Given the description of an element on the screen output the (x, y) to click on. 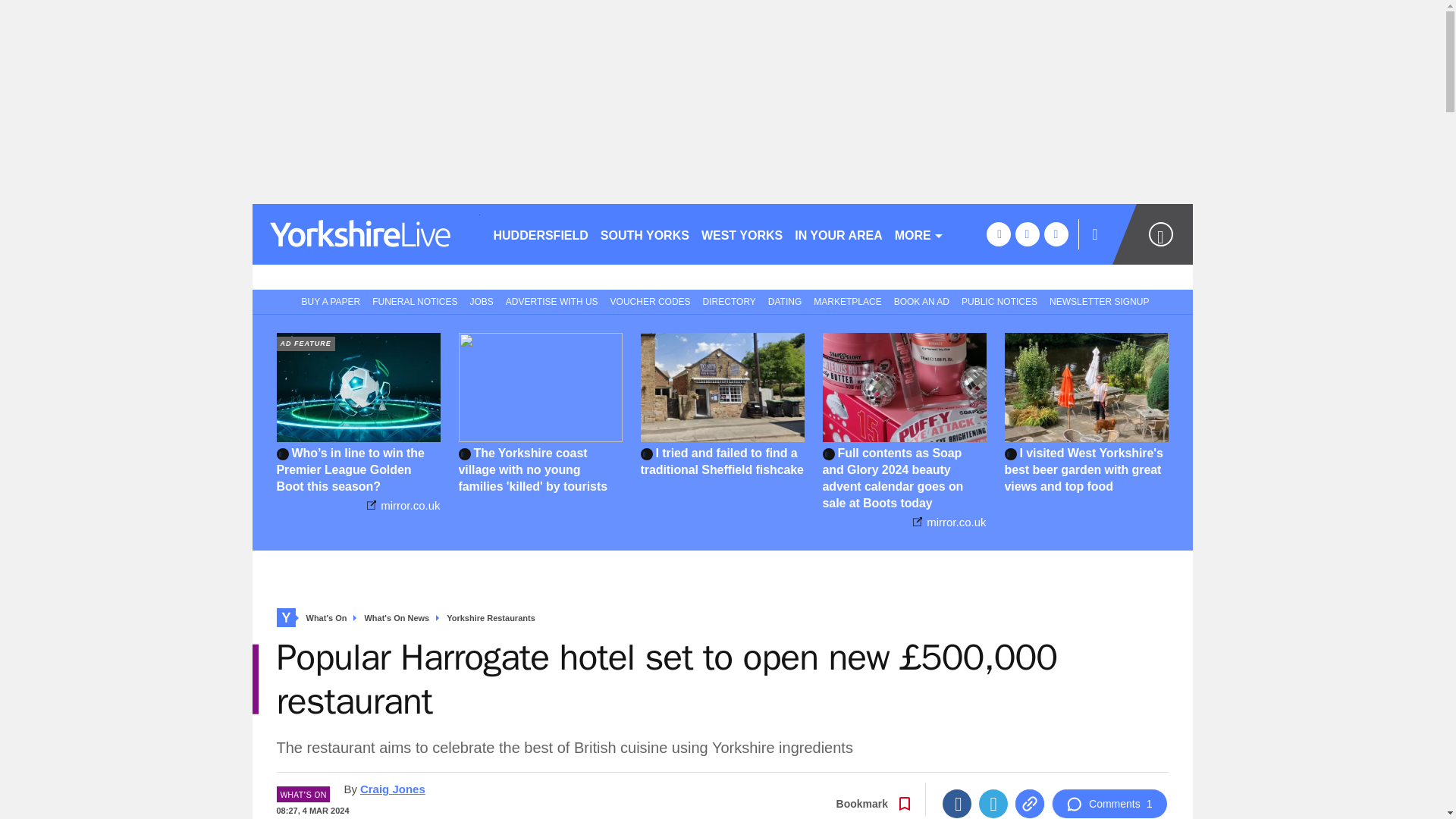
instagram (1055, 233)
WEST YORKS (742, 233)
IN YOUR AREA (838, 233)
MORE (919, 233)
facebook (997, 233)
HUDDERSFIELD (540, 233)
twitter (1026, 233)
huddersfieldexaminer (365, 233)
Facebook (956, 803)
Comments (1108, 803)
